Given the description of an element on the screen output the (x, y) to click on. 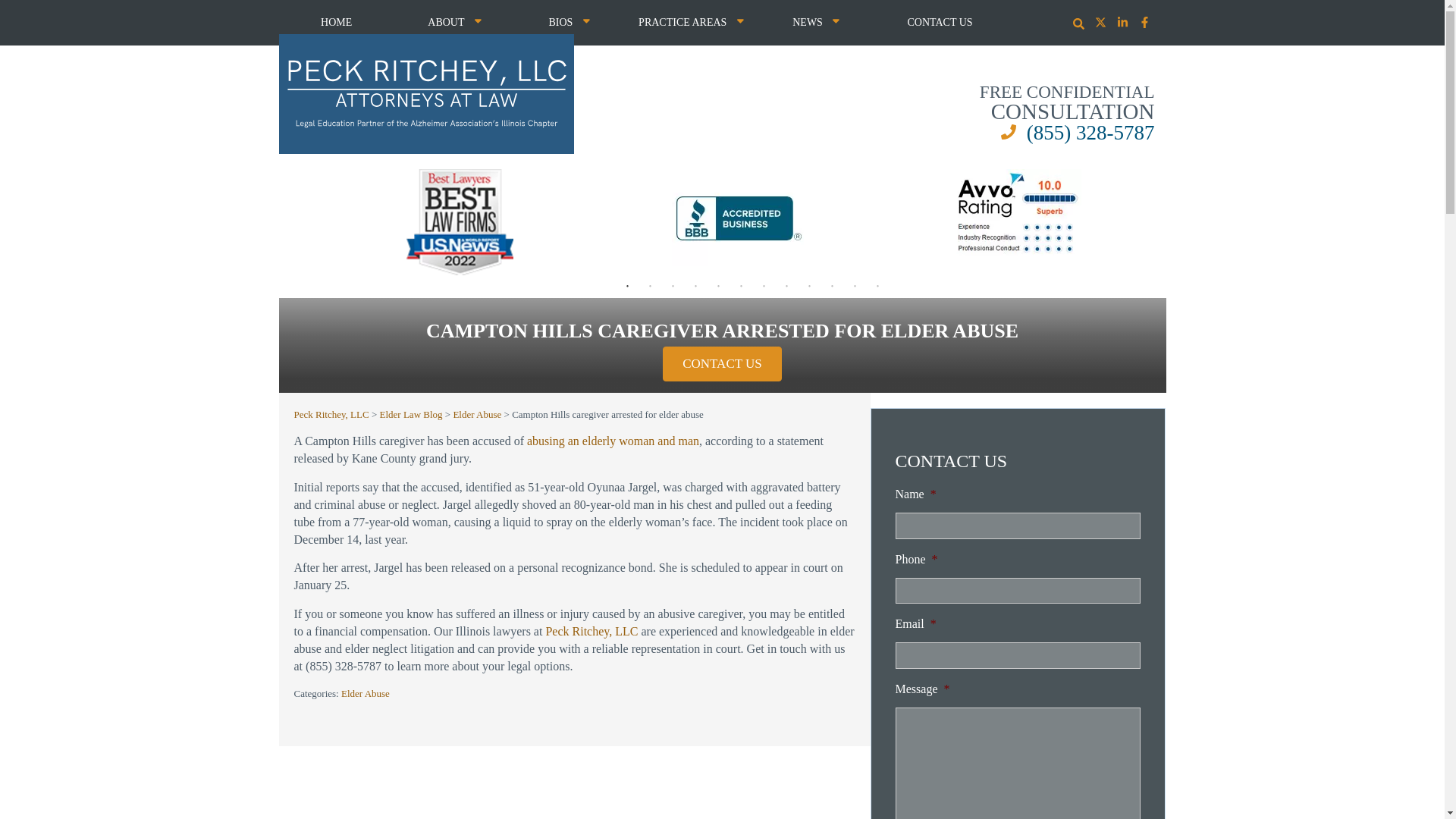
BIOS (569, 22)
CONTACT US (940, 22)
HOME (336, 22)
Go to the Elder Abuse Category archives. (476, 414)
NEWS (815, 22)
Peck Ritchey, LLC (427, 93)
Go to Elder Law Blog. (411, 414)
Go to Peck Ritchey, LLC. (331, 414)
ABOUT (454, 22)
PRACTICE AREAS (690, 22)
